Given the description of an element on the screen output the (x, y) to click on. 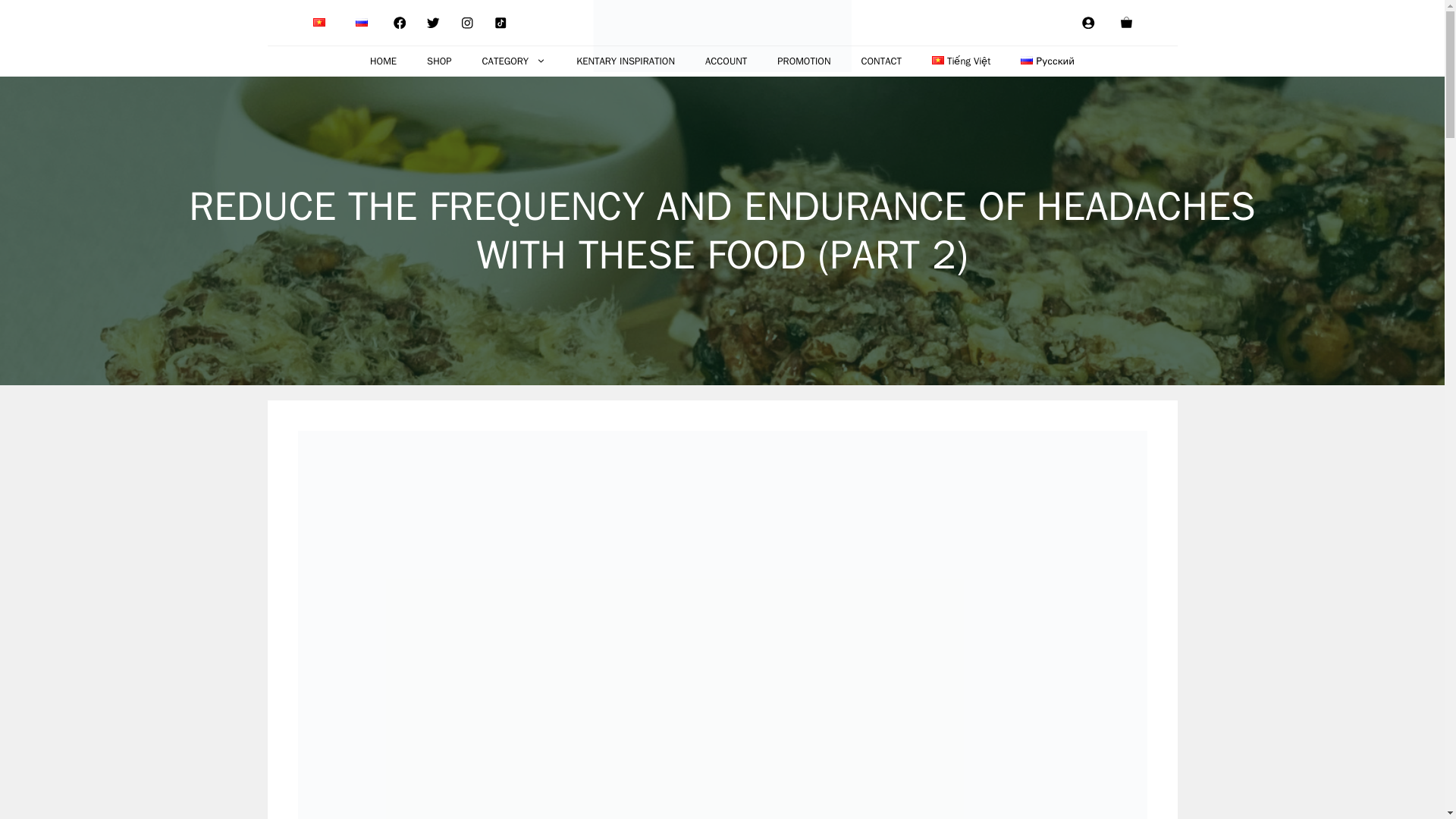
PROMOTION (803, 60)
SHOP (438, 60)
View your shopping cart (1126, 22)
KENTARY INSPIRATION (625, 60)
HOME (383, 60)
CONTACT (881, 60)
ACCOUNT (725, 60)
Kentary (721, 39)
CATEGORY (514, 60)
